Given the description of an element on the screen output the (x, y) to click on. 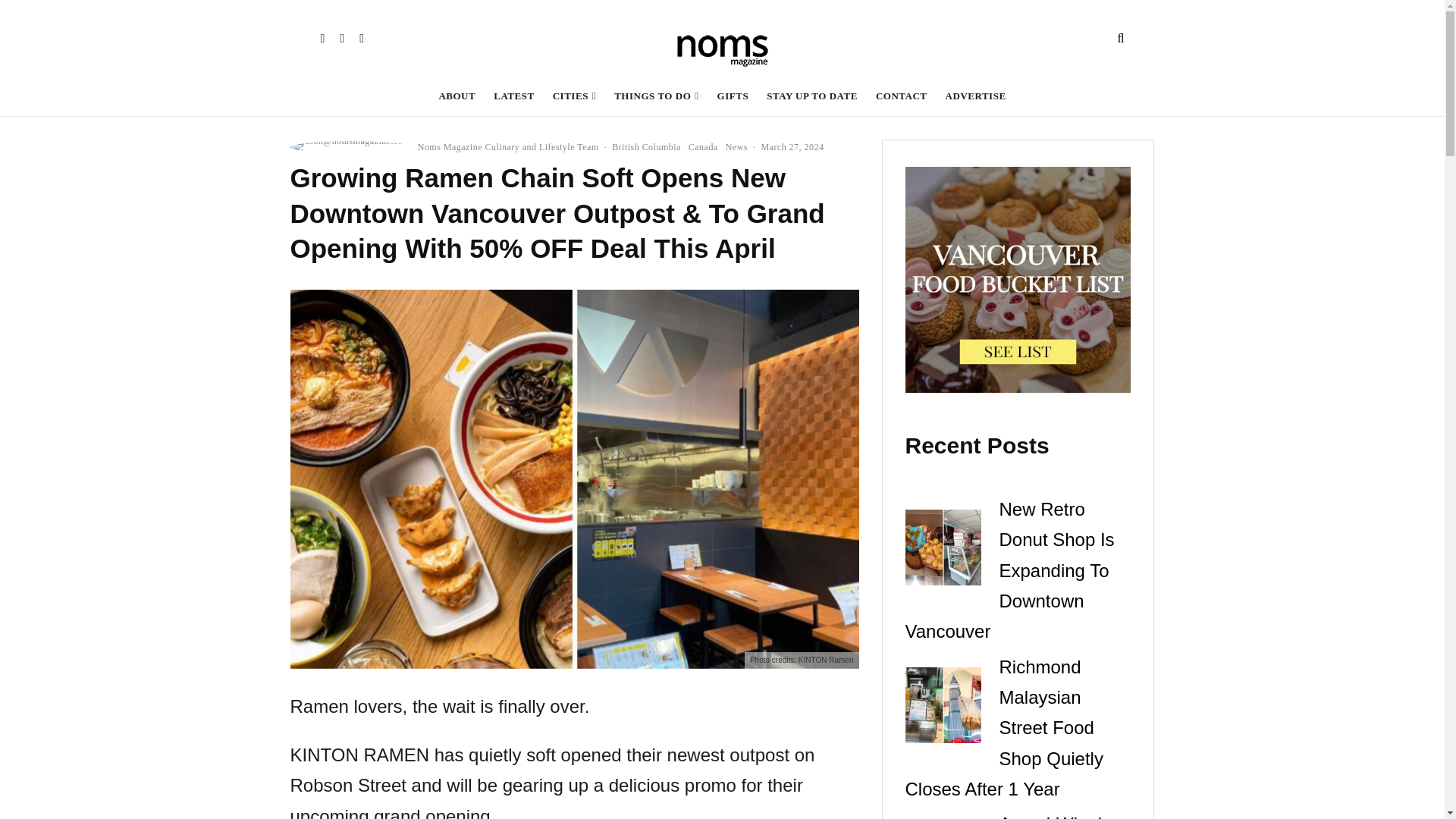
ABOUT (456, 96)
GIFTS (732, 96)
STAY UP TO DATE (811, 96)
CONTACT (901, 96)
LATEST (513, 96)
CITIES (574, 96)
ADVERTISE (975, 96)
THINGS TO DO (656, 96)
